Given the description of an element on the screen output the (x, y) to click on. 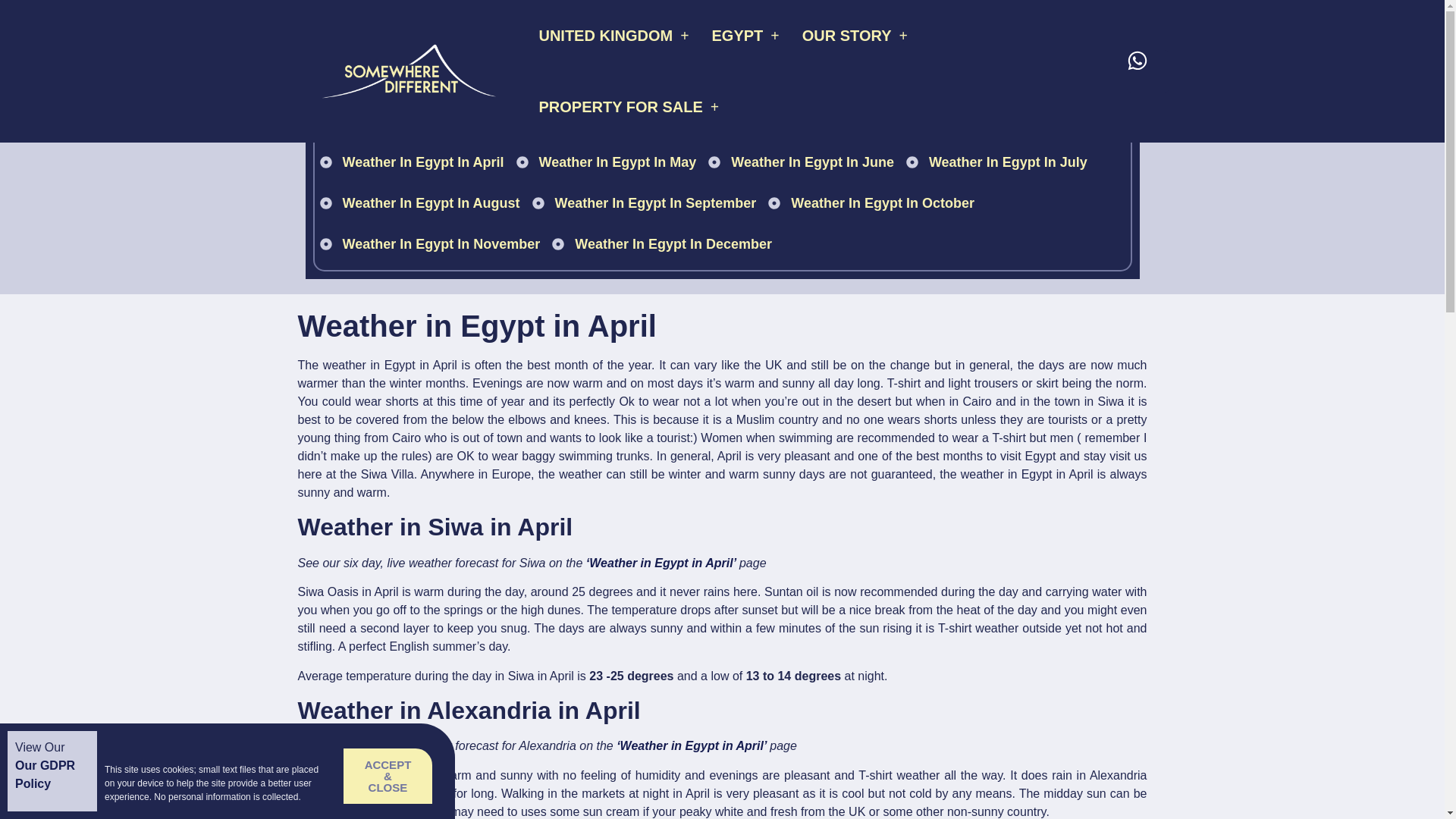
UNITED KINGDOM (613, 35)
EGYPT (745, 35)
What Somewhere Different has in the UK (613, 35)
